Given the description of an element on the screen output the (x, y) to click on. 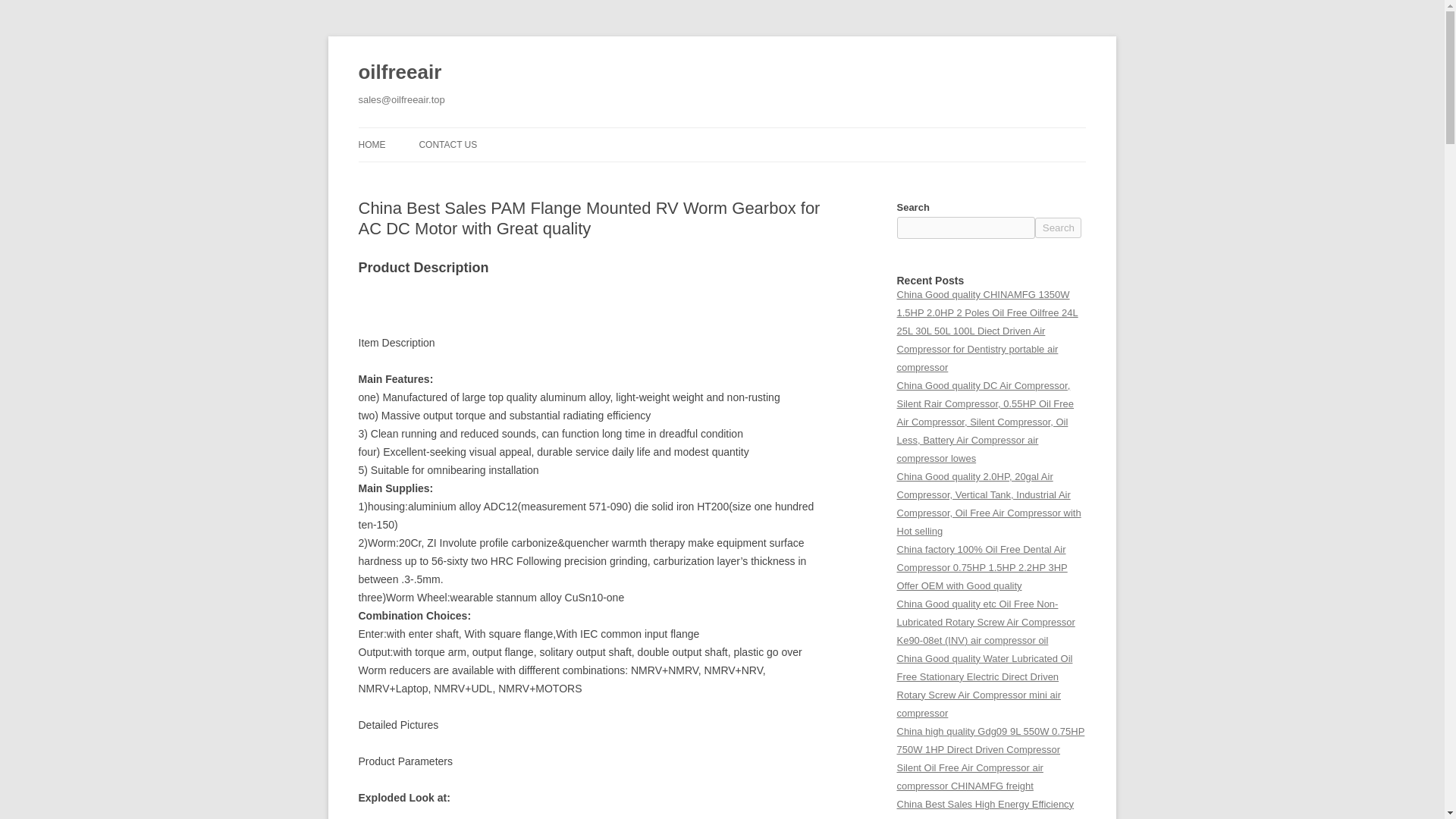
CONTACT US (448, 144)
oilfreeair (399, 72)
